Given the description of an element on the screen output the (x, y) to click on. 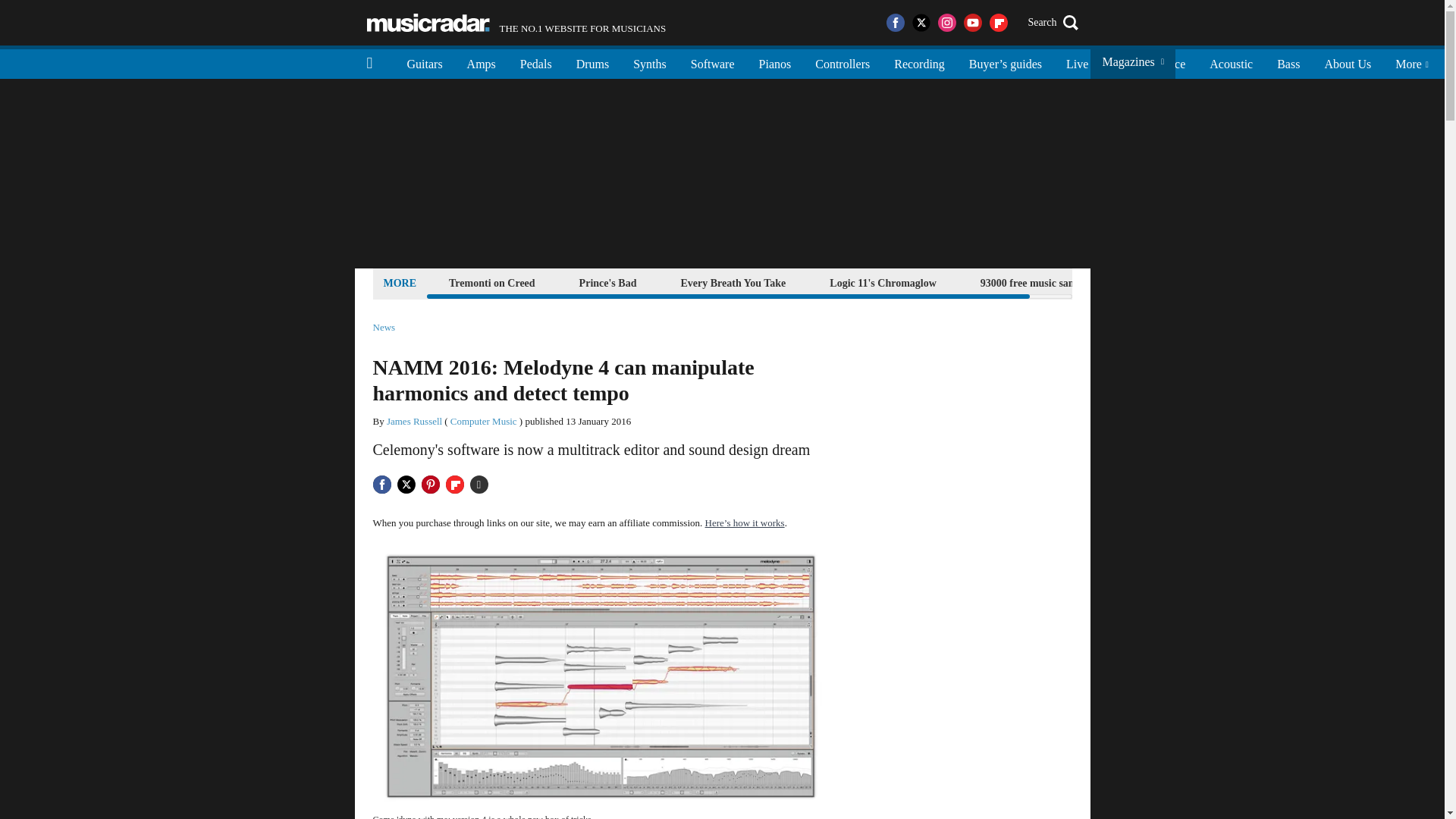
Prince's Bad (607, 282)
Recording (919, 61)
Drums (592, 61)
Tremonti on Creed (492, 282)
93000 free music samples (1037, 282)
About Us (1347, 61)
Music Radar (427, 22)
Software (712, 61)
Pedals (536, 61)
Every Breath You Take (732, 282)
Guitars (424, 61)
Bass (1288, 61)
Amps (481, 61)
Controllers (842, 61)
